Given the description of an element on the screen output the (x, y) to click on. 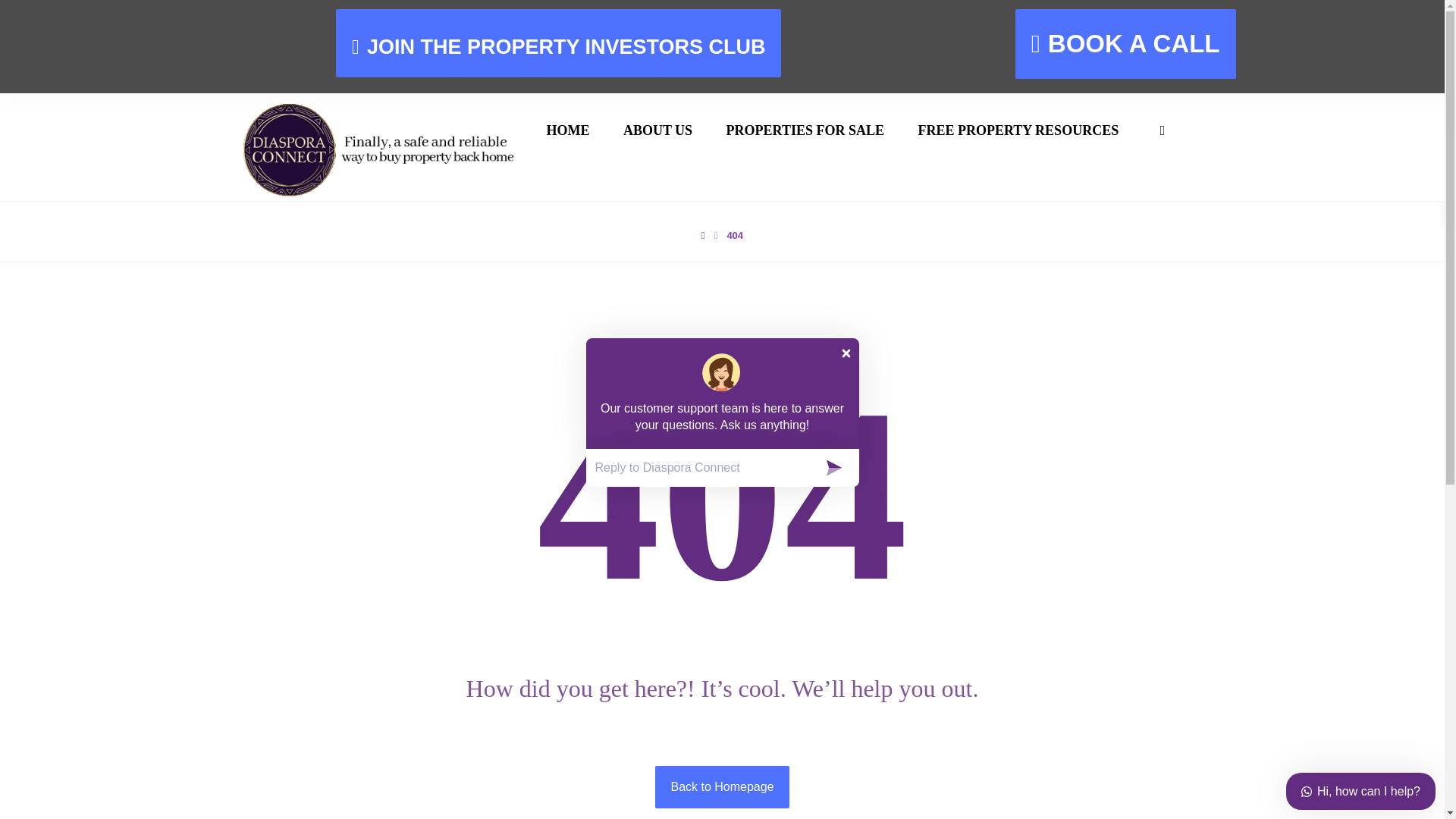
PROPERTIES FOR SALE (804, 130)
ABOUT US (658, 130)
YouTube (608, 689)
Back to Homepage (722, 786)
HOME (567, 130)
Facebook (705, 689)
BOOK A CALL (291, 397)
404 (734, 235)
Twitter (804, 689)
FREE PROPERTY RESOURCES (1017, 130)
JOIN THE PROPERTY INVESTORS CLUB (558, 42)
LinkedIn (755, 689)
BOOK A CALL (1125, 43)
Website design by 360nx Designs (1125, 796)
Find the right property for you in Zambia (383, 148)
